Given the description of an element on the screen output the (x, y) to click on. 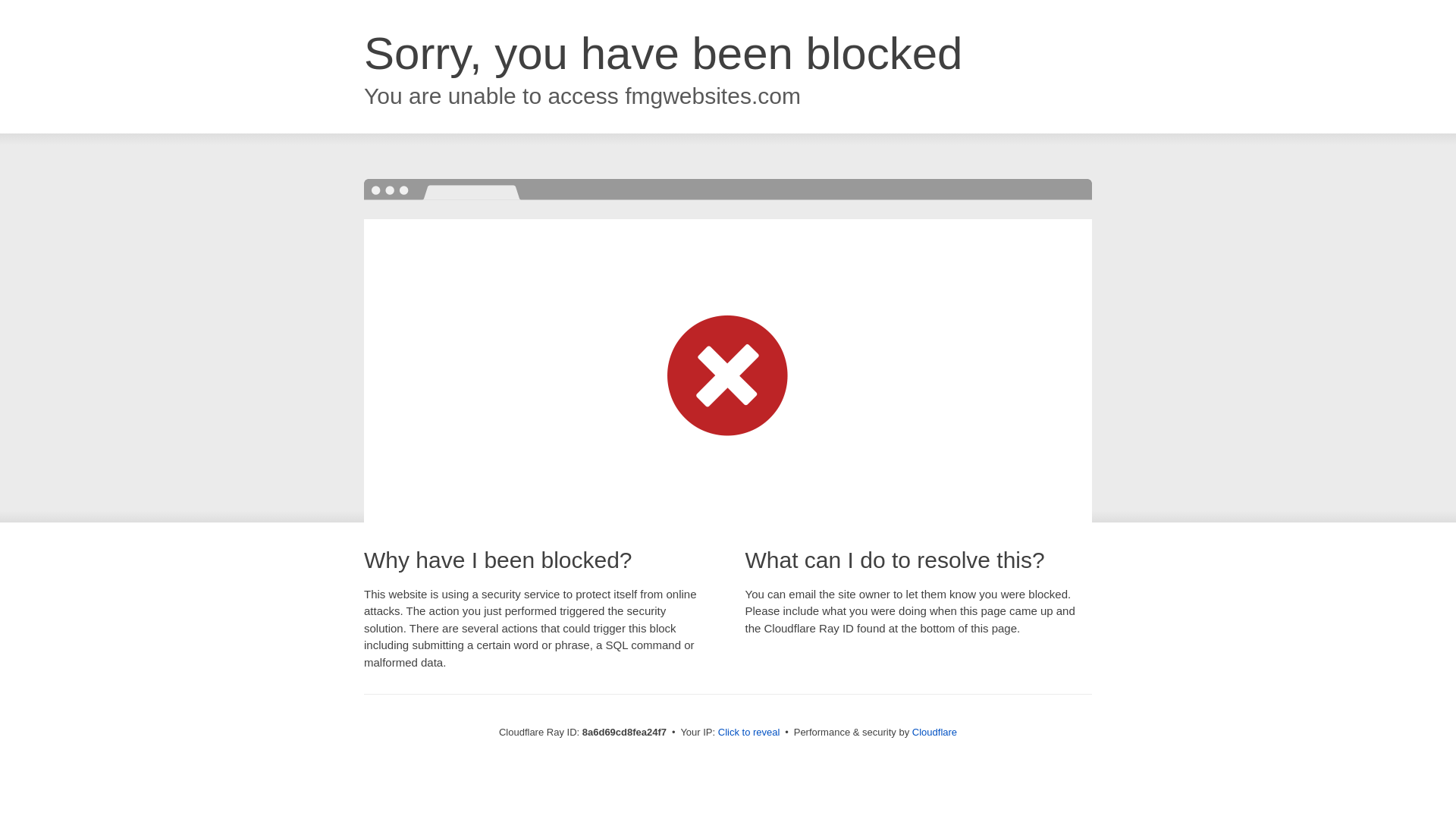
Click to reveal (748, 732)
Cloudflare (934, 731)
